Given the description of an element on the screen output the (x, y) to click on. 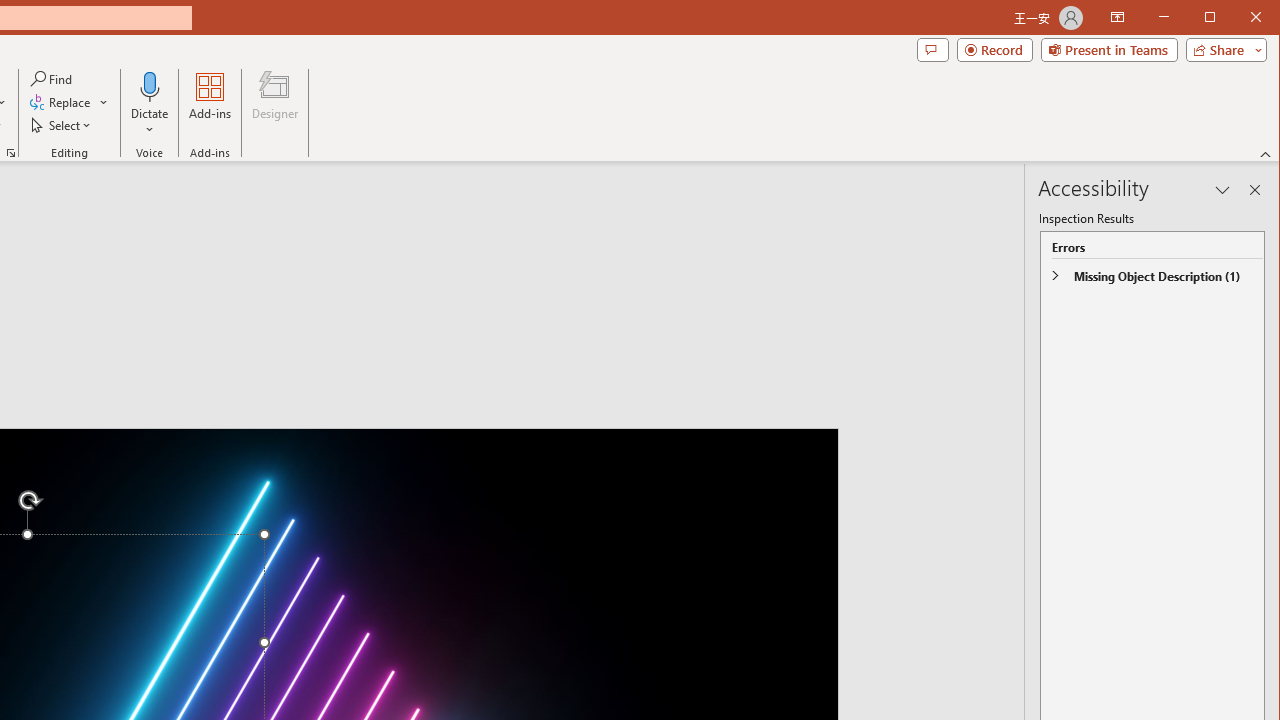
Maximize (1238, 18)
Format Object... (10, 152)
